Given the description of an element on the screen output the (x, y) to click on. 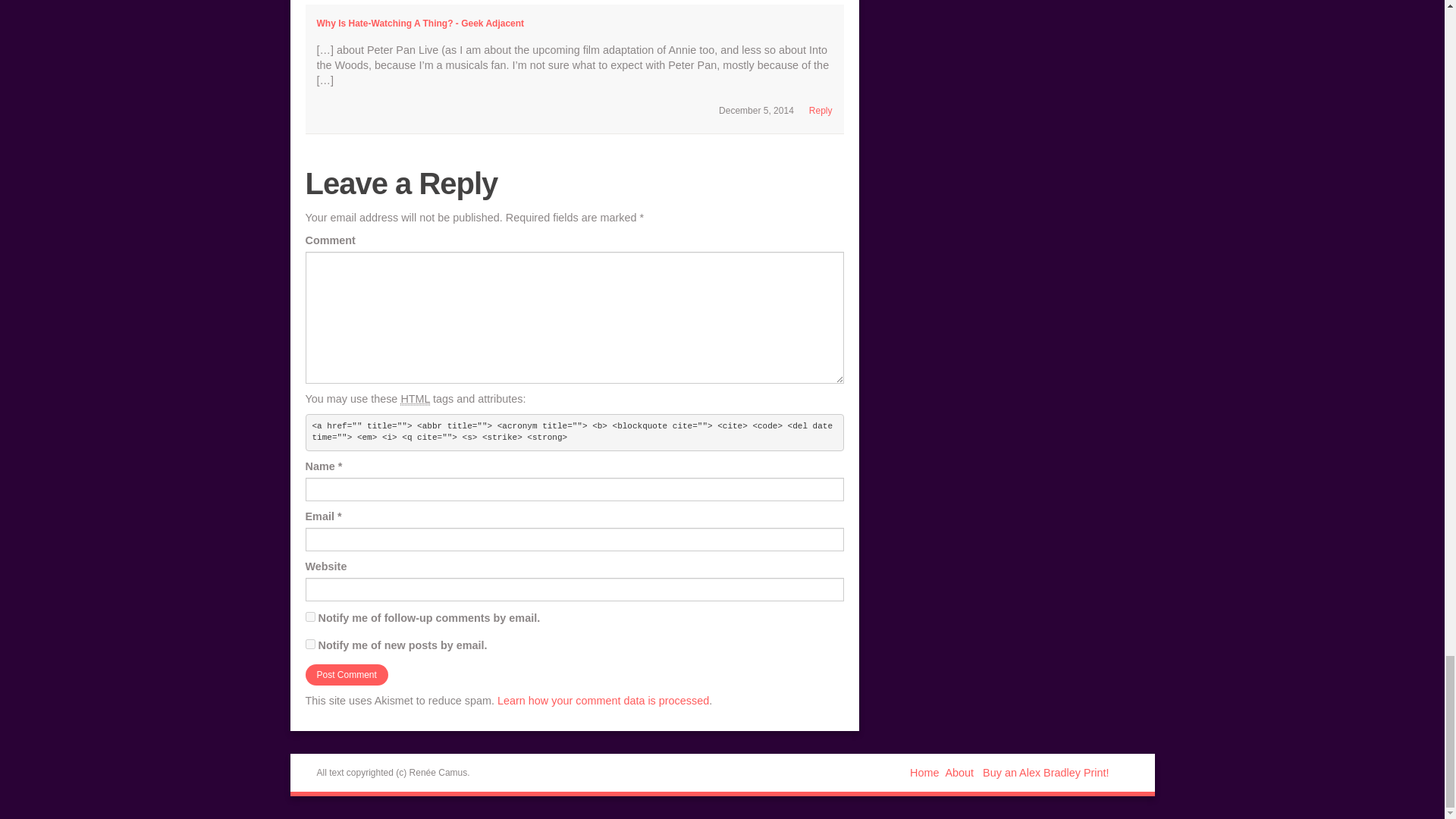
Post Comment (345, 674)
subscribe (309, 616)
subscribe (309, 644)
HyperText Markup Language (414, 399)
